Given the description of an element on the screen output the (x, y) to click on. 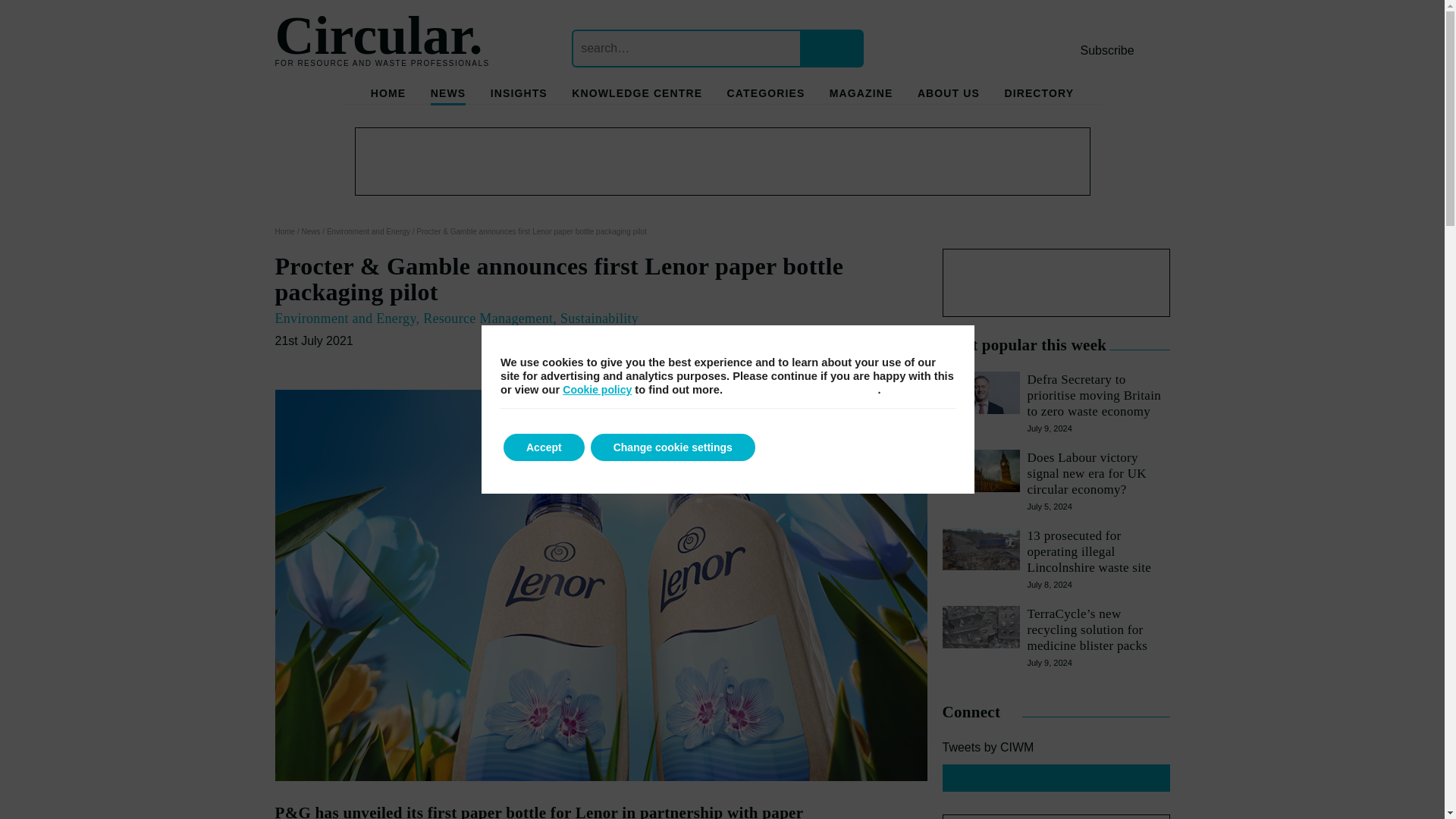
Circular. (378, 35)
NEWS (447, 95)
HOME (388, 95)
INSIGHTS (518, 95)
KNOWLEDGE CENTRE (636, 95)
3rd party ad content (1055, 282)
3rd party ad content (722, 161)
Subscribe (1107, 50)
DIRECTORY (1039, 95)
CATEGORIES (765, 95)
ABOUT US (948, 95)
3rd party ad content (1055, 816)
MAGAZINE (861, 95)
